Given the description of an element on the screen output the (x, y) to click on. 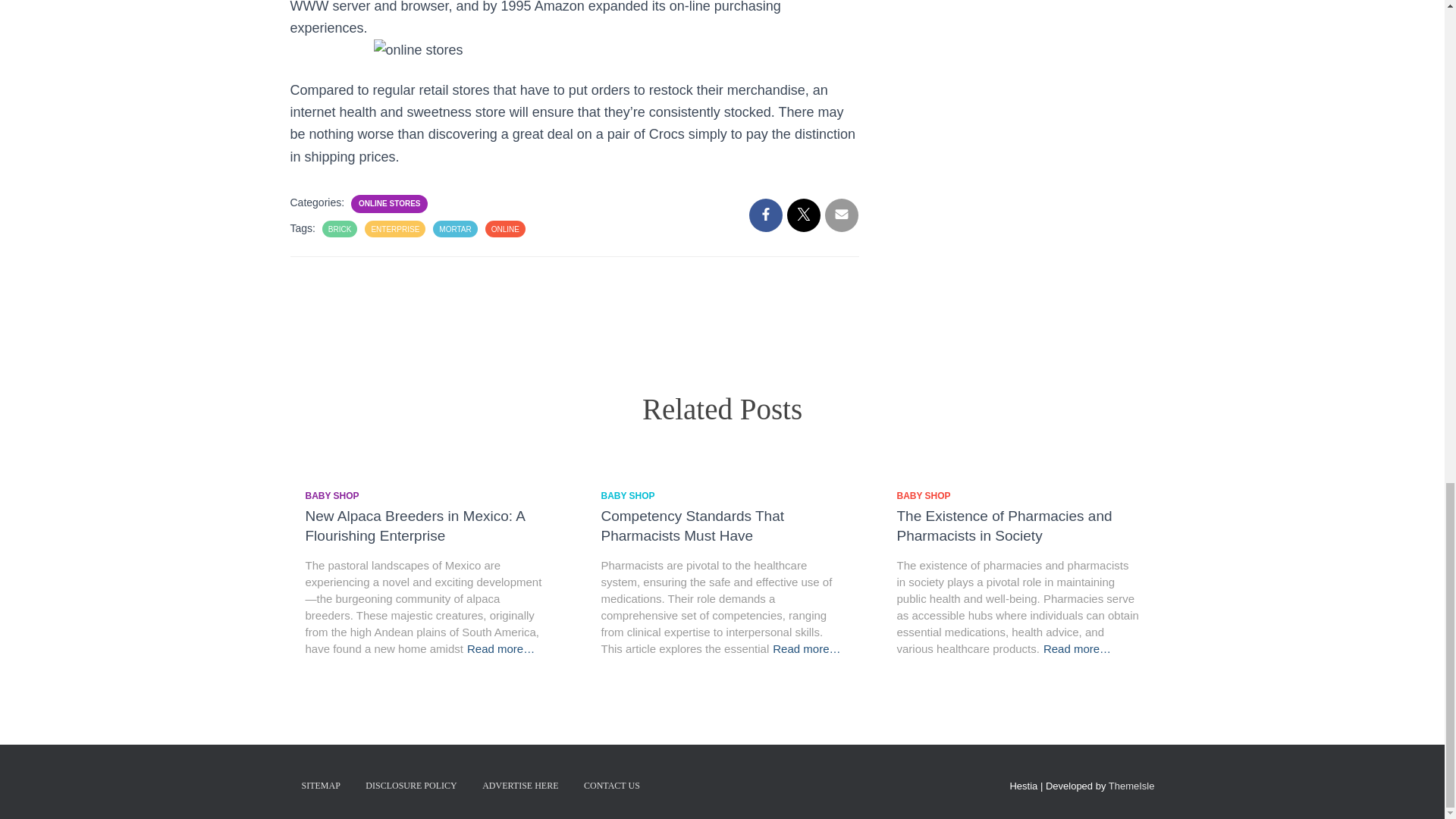
ENTERPRISE (395, 229)
BRICK (340, 229)
ONLINE STORES (389, 203)
MORTAR (454, 229)
ONLINE (505, 229)
